Given the description of an element on the screen output the (x, y) to click on. 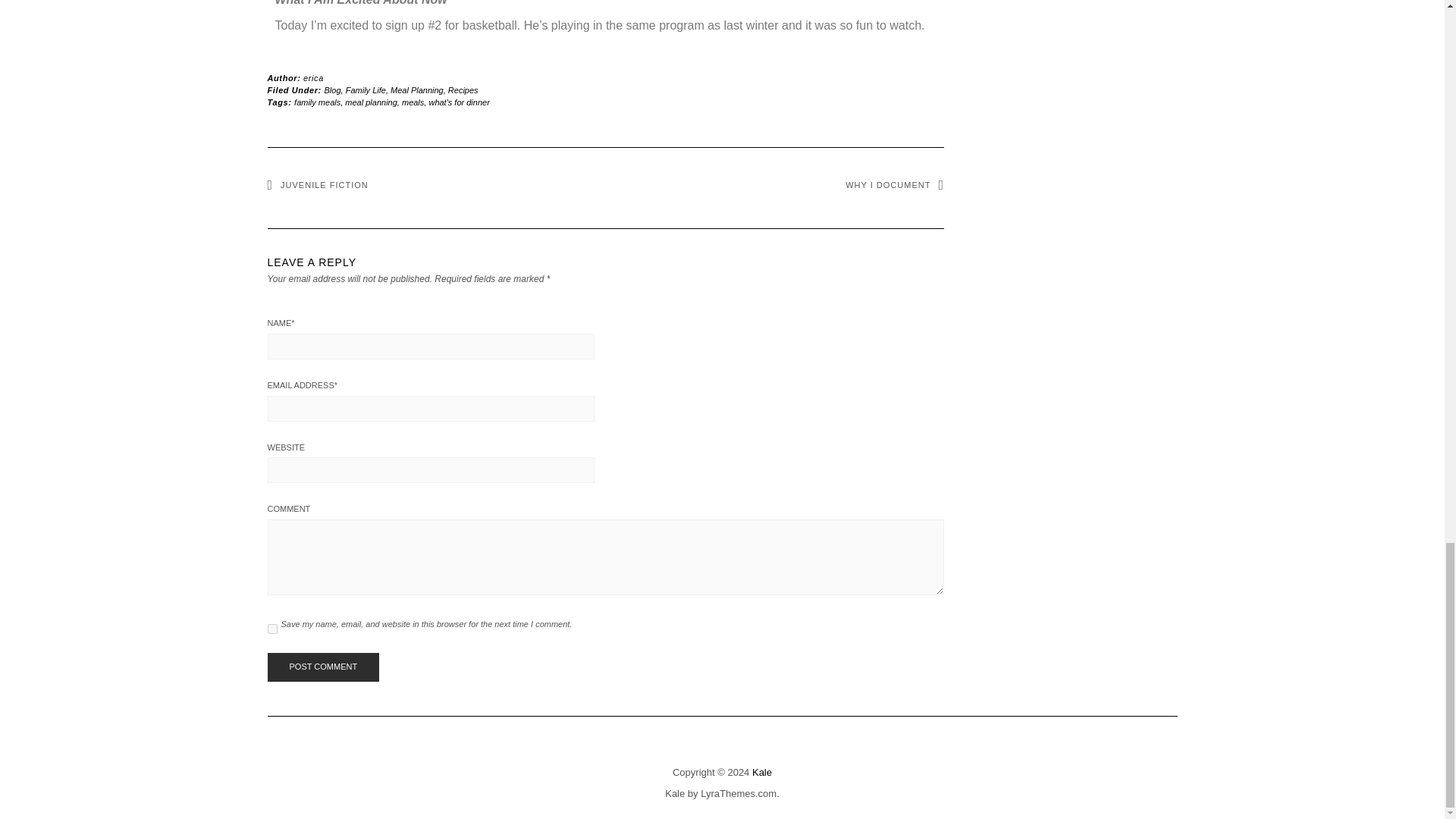
what's for dinner (458, 102)
Post Comment (322, 666)
meal planning (371, 102)
Recipes (463, 90)
Kale (761, 772)
JUVENILE FICTION (317, 184)
yes (271, 628)
Posts by erica (312, 77)
WHY I DOCUMENT (894, 184)
erica (312, 77)
